Given the description of an element on the screen output the (x, y) to click on. 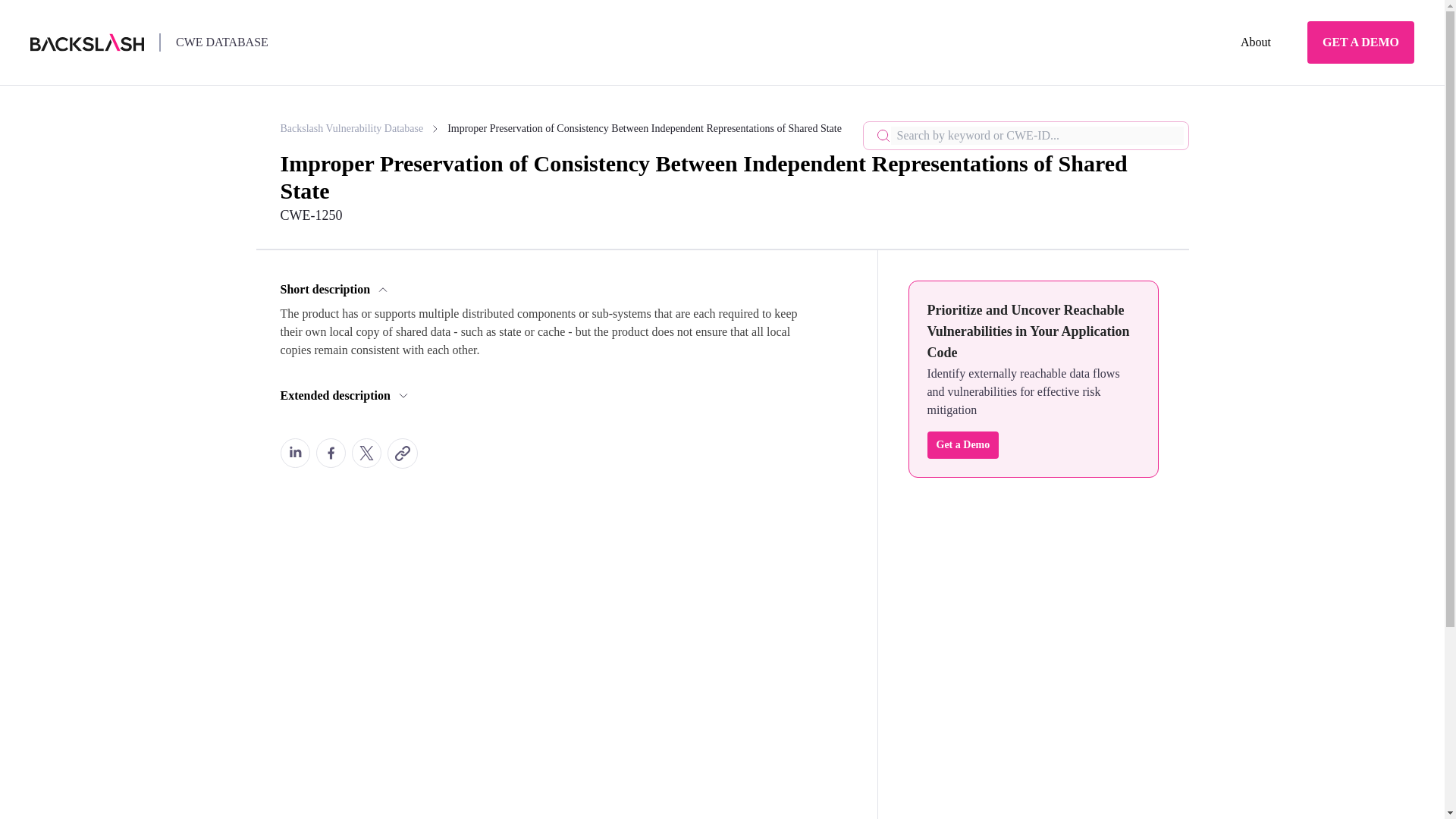
About (1255, 42)
Backslash Vulnerability Database (361, 128)
CWE DATABASE (221, 42)
Get a Demo (962, 444)
GET A DEMO (1360, 42)
